Given the description of an element on the screen output the (x, y) to click on. 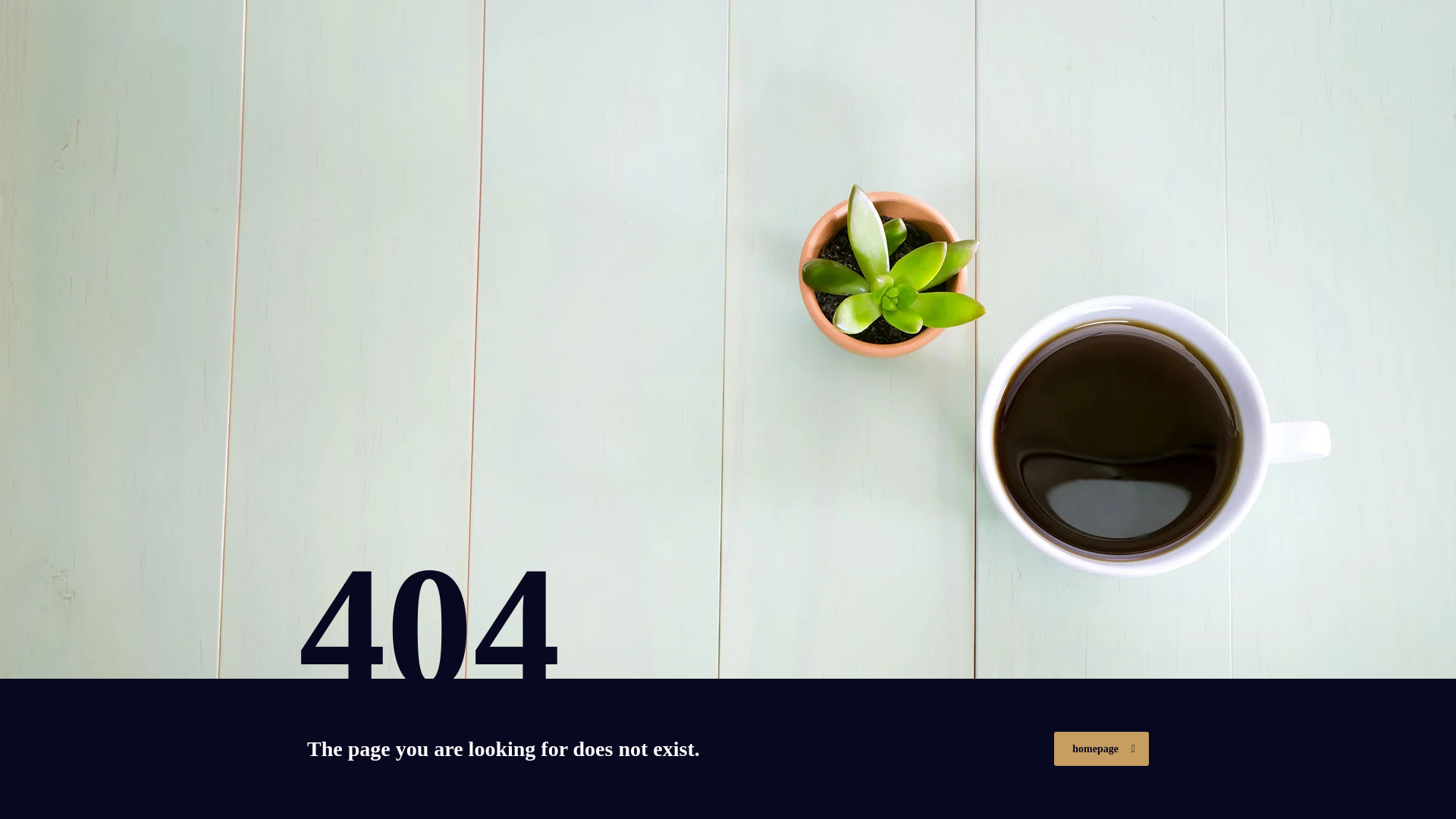
homepage (1101, 748)
